Given the description of an element on the screen output the (x, y) to click on. 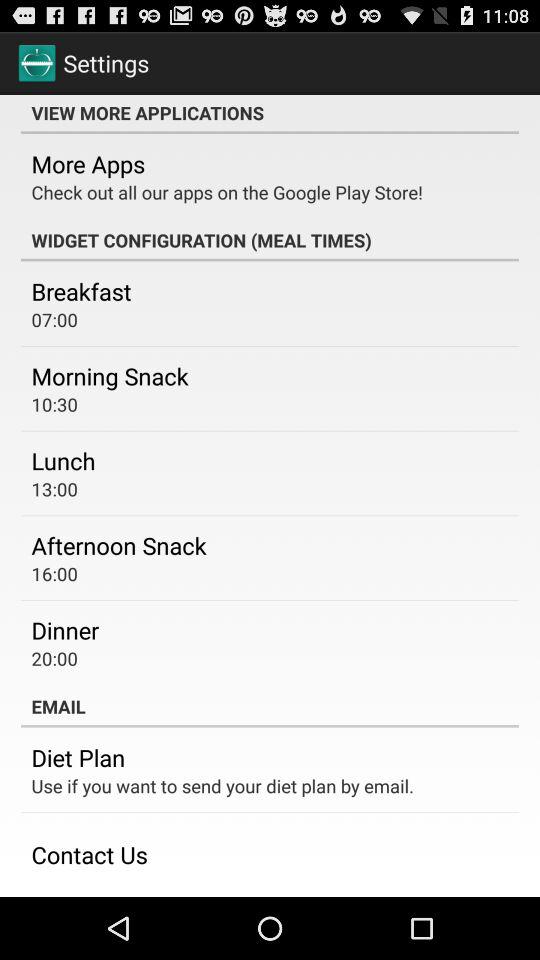
jump to the breakfast (81, 291)
